Given the description of an element on the screen output the (x, y) to click on. 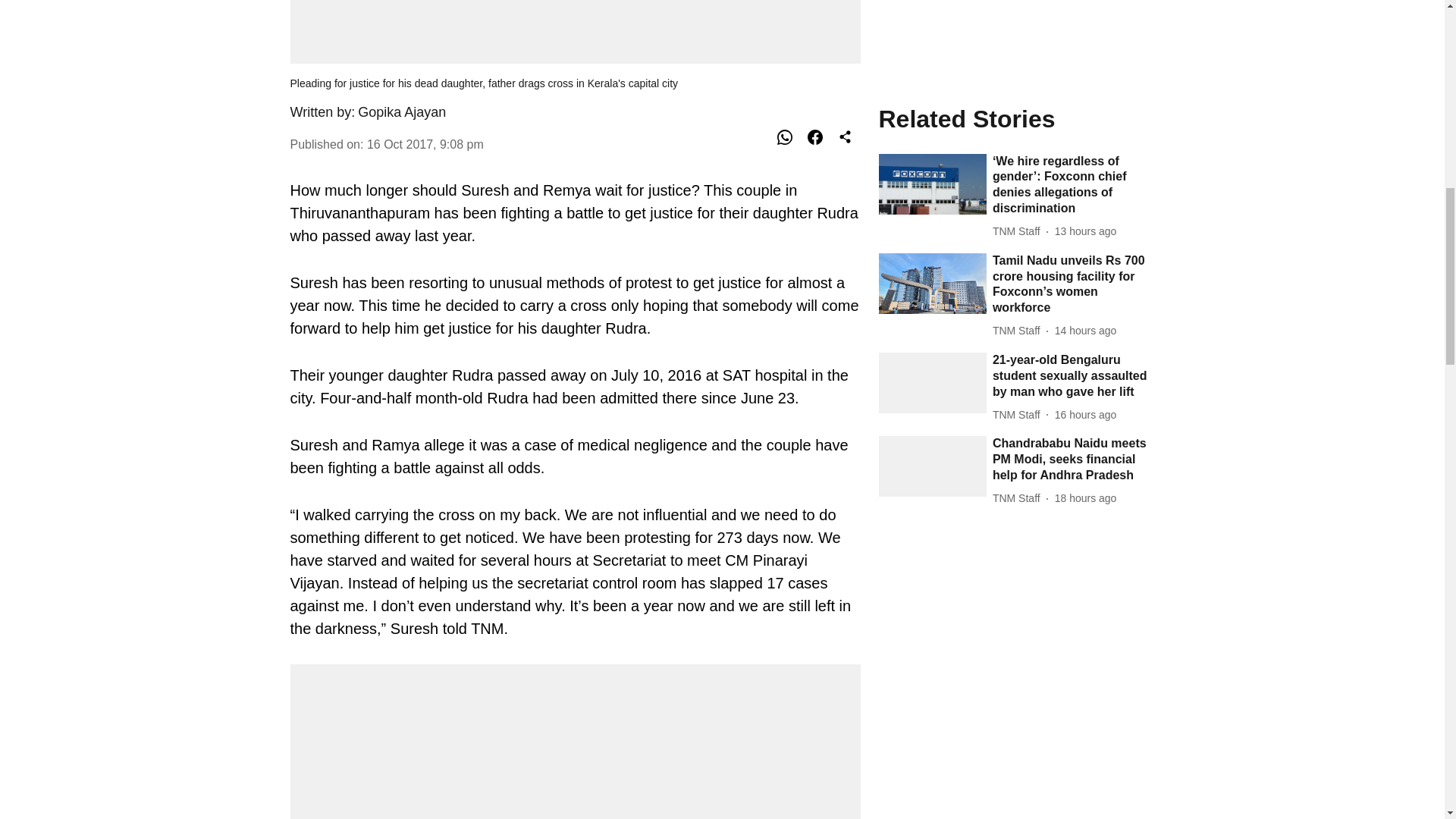
Gopika Ajayan (401, 111)
2024-08-18 08:41 (1085, 146)
2017-10-16 13:08 (424, 144)
2024-08-18 10:39 (1085, 63)
